Given the description of an element on the screen output the (x, y) to click on. 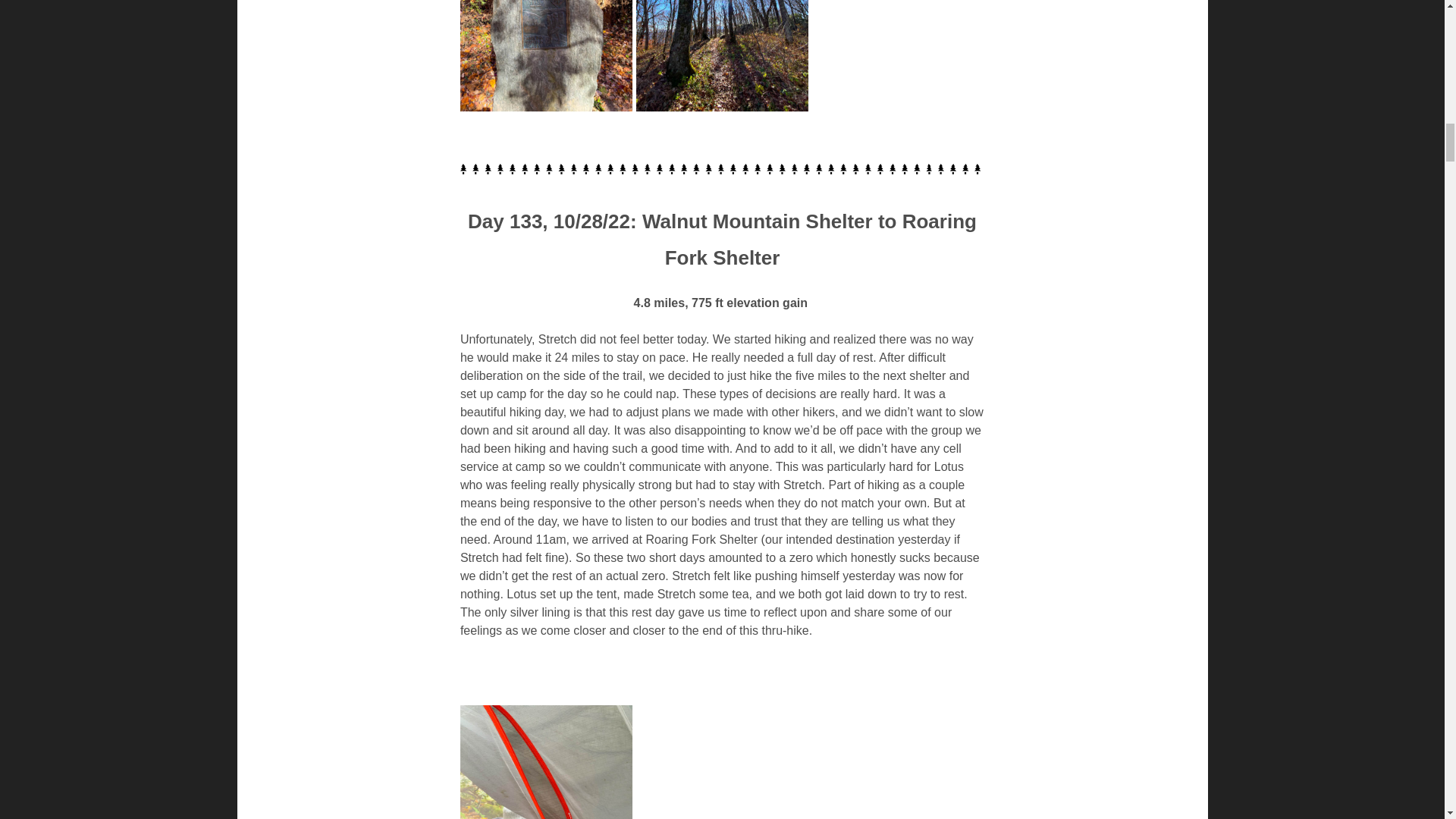
AT Post TN-NC Part 2-03 (545, 762)
AT Post TN-NC Part 2-01 (545, 55)
AT Post TN-NC Part 2-02 (722, 55)
